Given the description of an element on the screen output the (x, y) to click on. 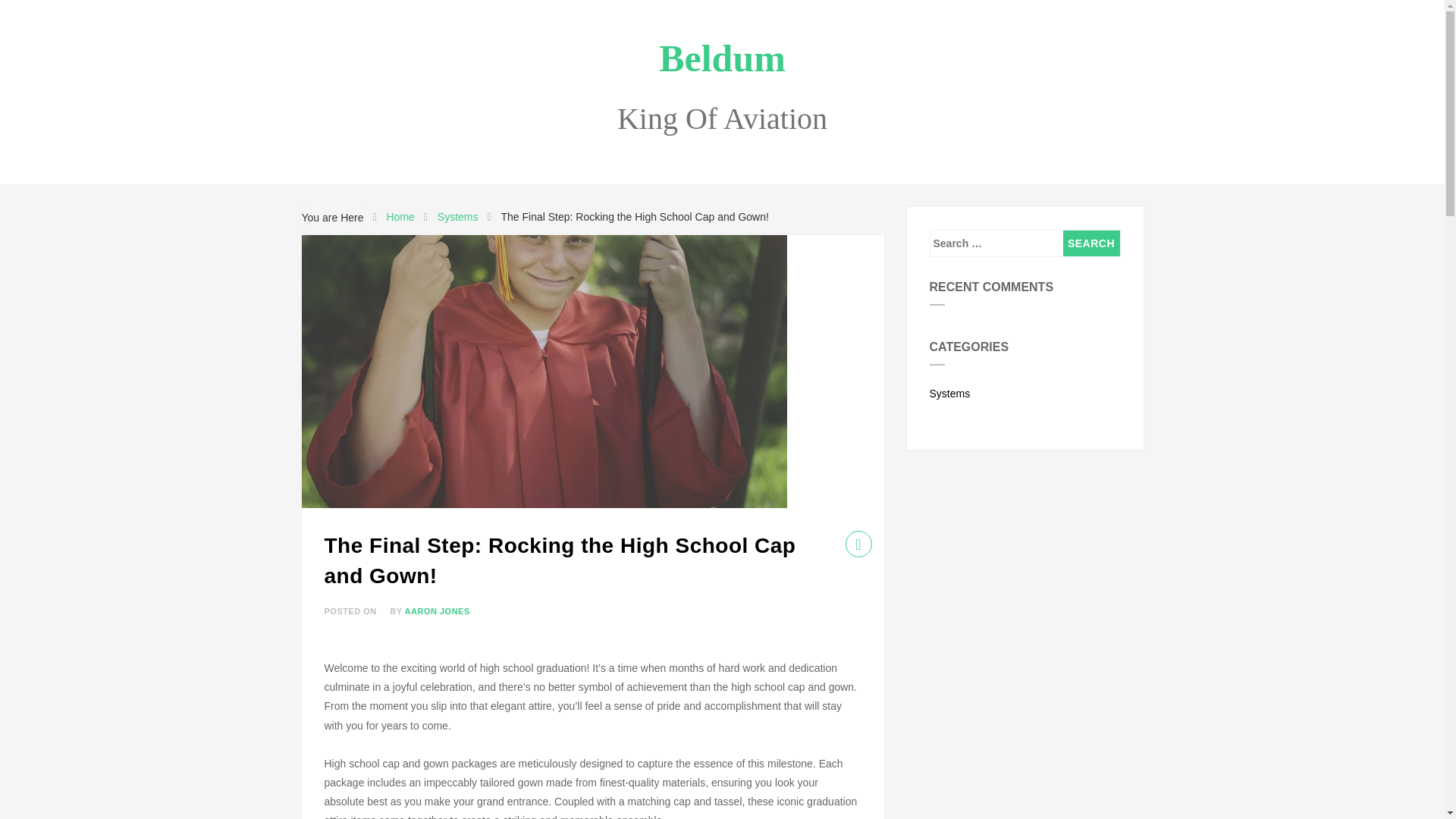
Search (1090, 243)
Beldum (722, 57)
Search (1090, 243)
Systems (458, 217)
Systems (1025, 389)
AARON JONES (437, 610)
Search (1090, 243)
Home (399, 217)
